Given the description of an element on the screen output the (x, y) to click on. 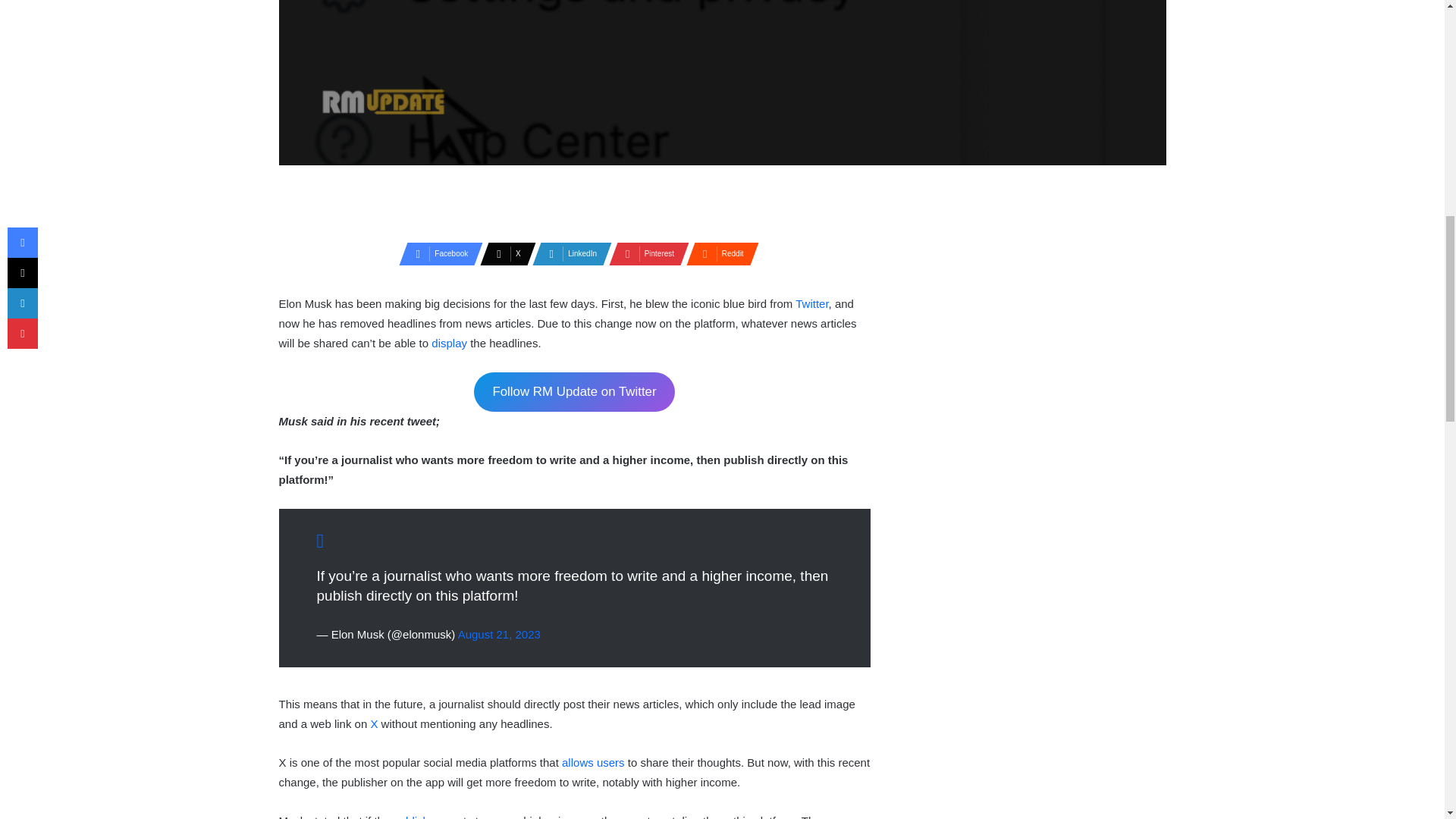
Reddit (717, 253)
Pinterest (643, 253)
Facebook (436, 253)
Facebook (436, 253)
X (503, 253)
allows users (593, 762)
Follow RM Update on Twitter (574, 392)
X (503, 253)
Pinterest (643, 253)
Twitter (811, 303)
X (374, 723)
August 21, 2023 (499, 634)
LinkedIn (567, 253)
display (450, 342)
LinkedIn (567, 253)
